Given the description of an element on the screen output the (x, y) to click on. 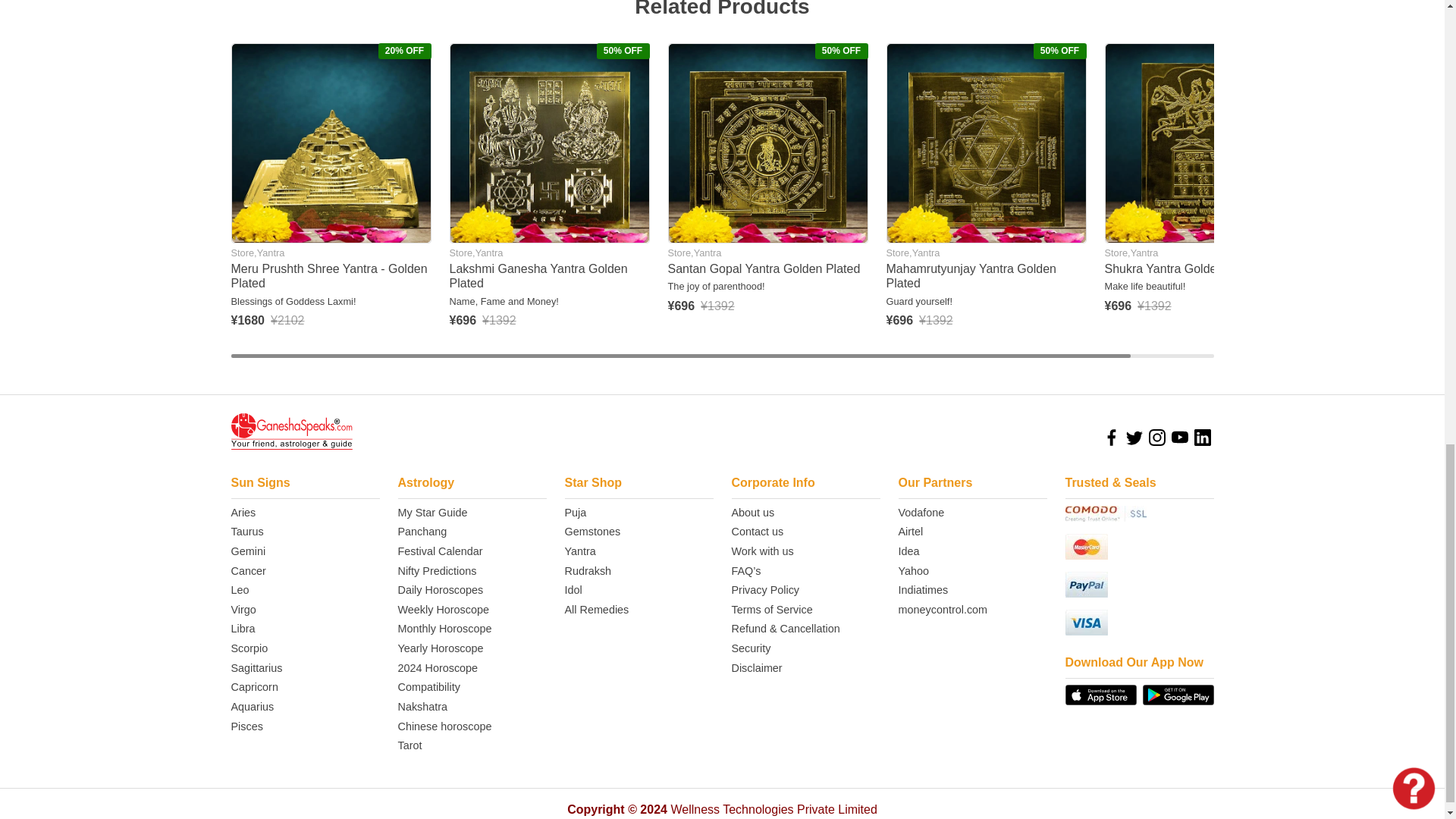
Meru Prushth Shree Yantra - Golden Plated (330, 143)
Lakshmi Ganesha Yantra Golden Plated (549, 143)
Santan Gopal Yantra Golden Plated (767, 143)
